Given the description of an element on the screen output the (x, y) to click on. 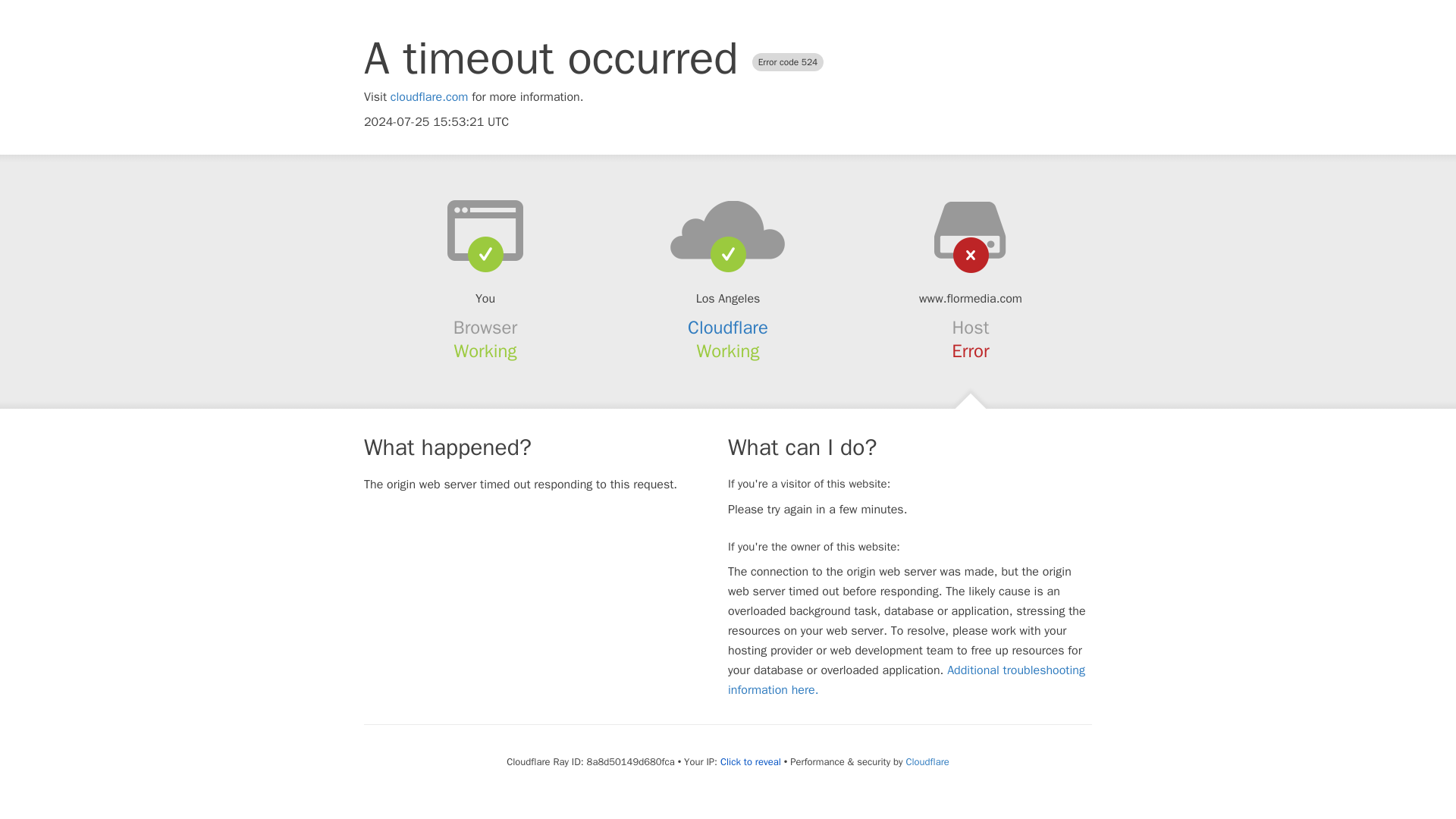
Additional troubleshooting information here. (906, 679)
Click to reveal (750, 762)
Cloudflare (927, 761)
Cloudflare (727, 327)
cloudflare.com (429, 96)
